Given the description of an element on the screen output the (x, y) to click on. 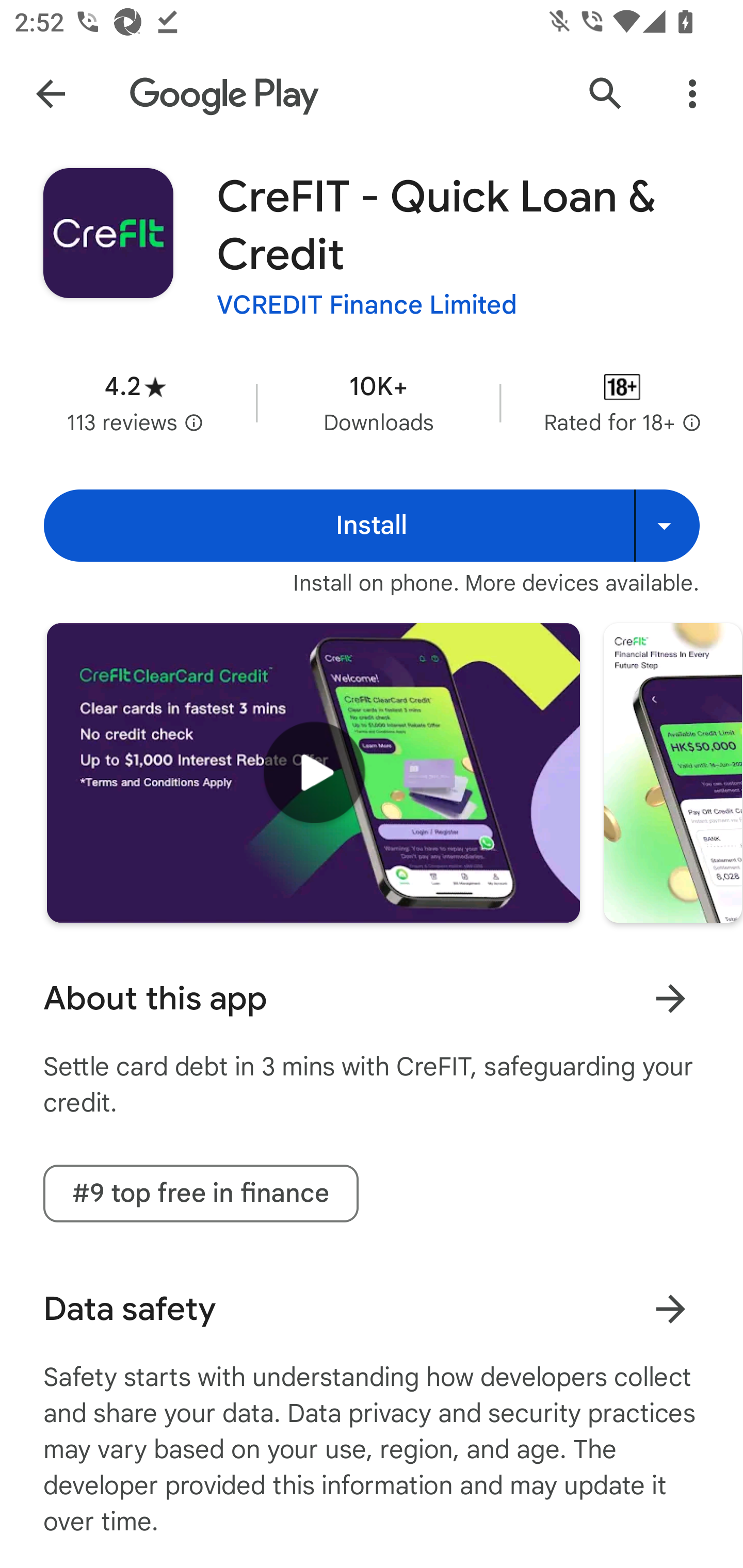
Navigate up (50, 93)
Search Google Play (605, 93)
More Options (692, 93)
VCREDIT Finance Limited (366, 304)
Average rating 4.2 stars in 113 reviews (135, 402)
Content rating Rated for 18+ (622, 402)
Install Install Install on more devices (371, 525)
Install on more devices (667, 525)
Play trailer for "CreFIT - Quick Loan & Credit" (313, 771)
About this app Learn more About this app (371, 998)
Learn more About this app (670, 997)
#9 top free in finance tag (200, 1193)
Data safety Learn more about data safety (371, 1309)
Learn more about data safety (670, 1308)
